Given the description of an element on the screen output the (x, y) to click on. 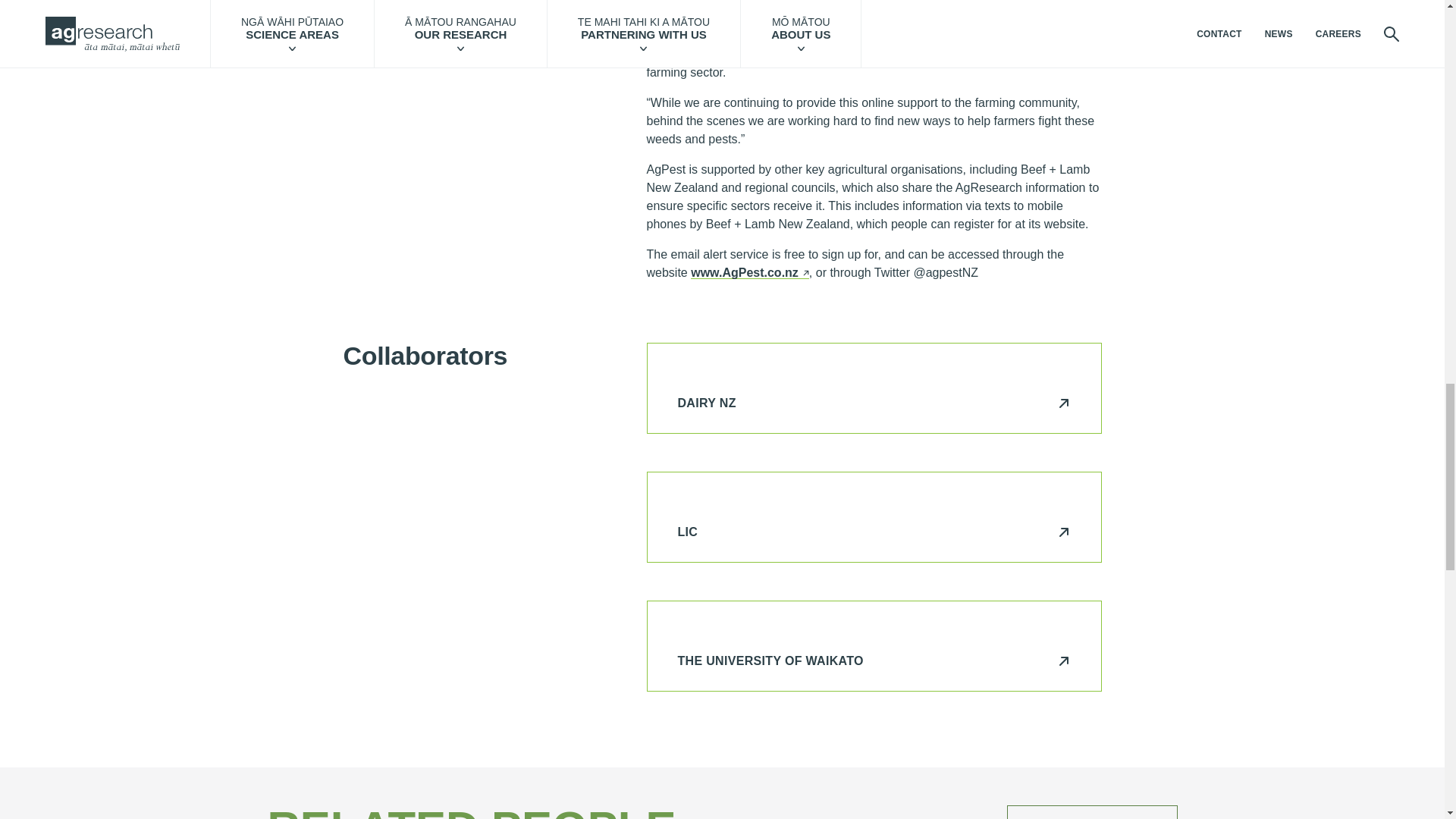
DAIRY NZ (874, 402)
LIC (874, 531)
Open external link (749, 271)
OUR PEOPLE (1092, 812)
THE UNIVERSITY OF WAIKATO (874, 661)
